Given the description of an element on the screen output the (x, y) to click on. 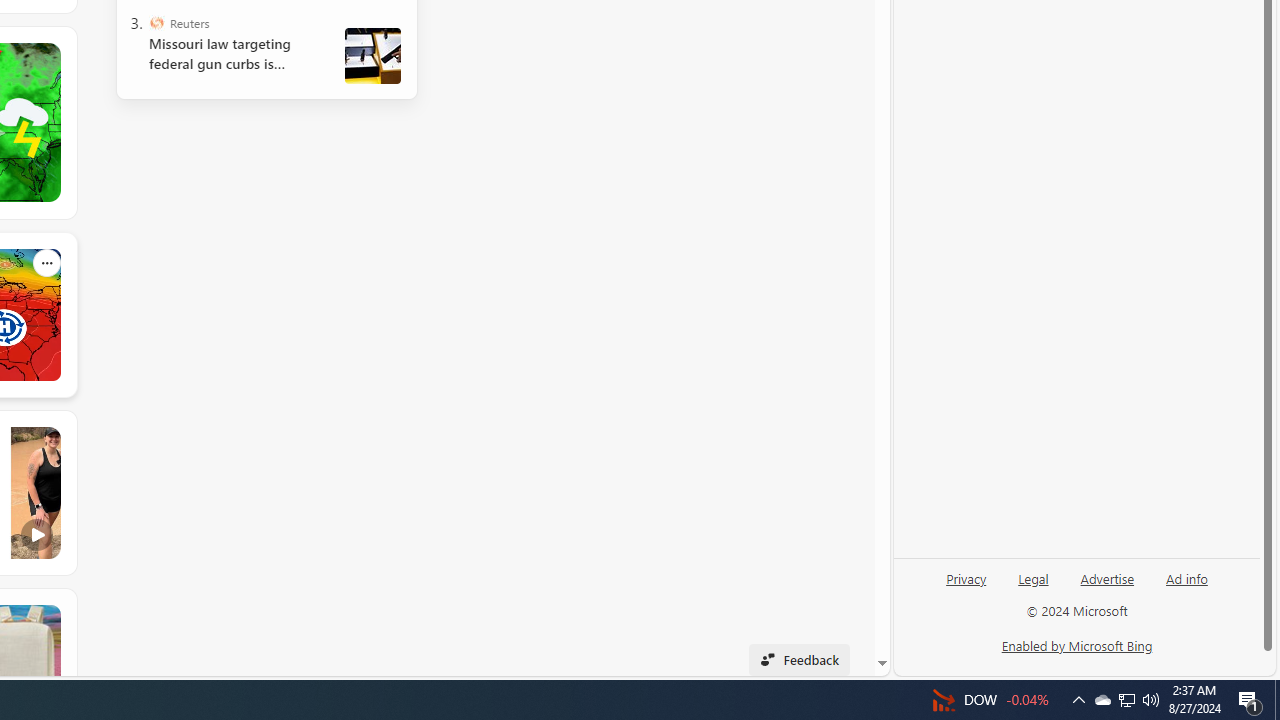
Reuters (156, 22)
